Given the description of an element on the screen output the (x, y) to click on. 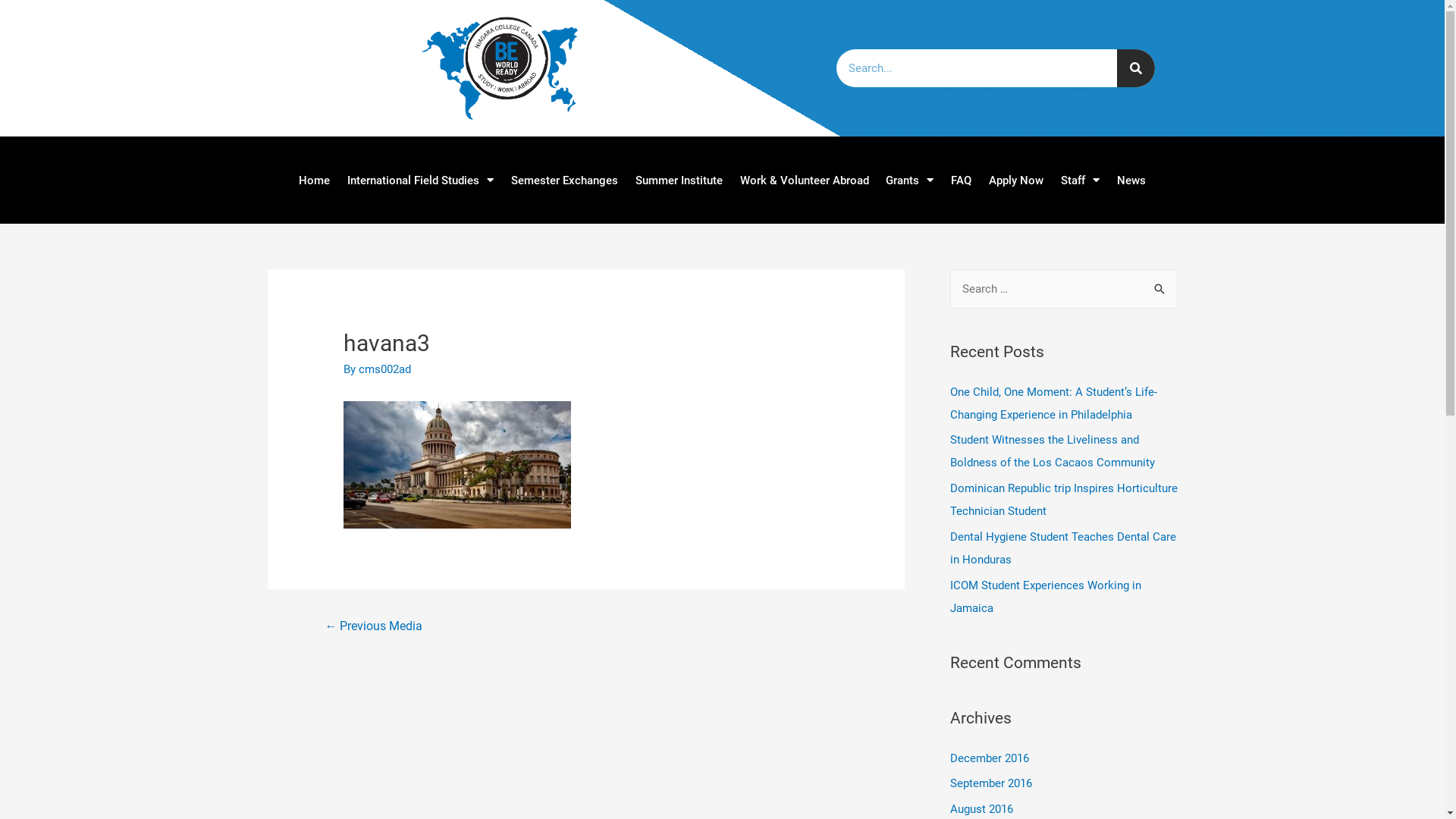
FAQ Element type: text (961, 179)
Staff Element type: text (1080, 179)
Grants Element type: text (909, 179)
cms002ad Element type: text (384, 369)
September 2016 Element type: text (990, 783)
Search Element type: text (1160, 289)
News Element type: text (1131, 179)
Dental Hygiene Student Teaches Dental Care in Honduras Element type: text (1062, 548)
Work & Volunteer Abroad Element type: text (804, 179)
August 2016 Element type: text (980, 808)
Home Element type: text (313, 179)
International Field Studies Element type: text (420, 179)
December 2016 Element type: text (988, 757)
Summer Institute Element type: text (678, 179)
ICOM Student Experiences Working in Jamaica Element type: text (1044, 595)
Semester Exchanges Element type: text (564, 179)
Apply Now Element type: text (1016, 179)
